Given the description of an element on the screen output the (x, y) to click on. 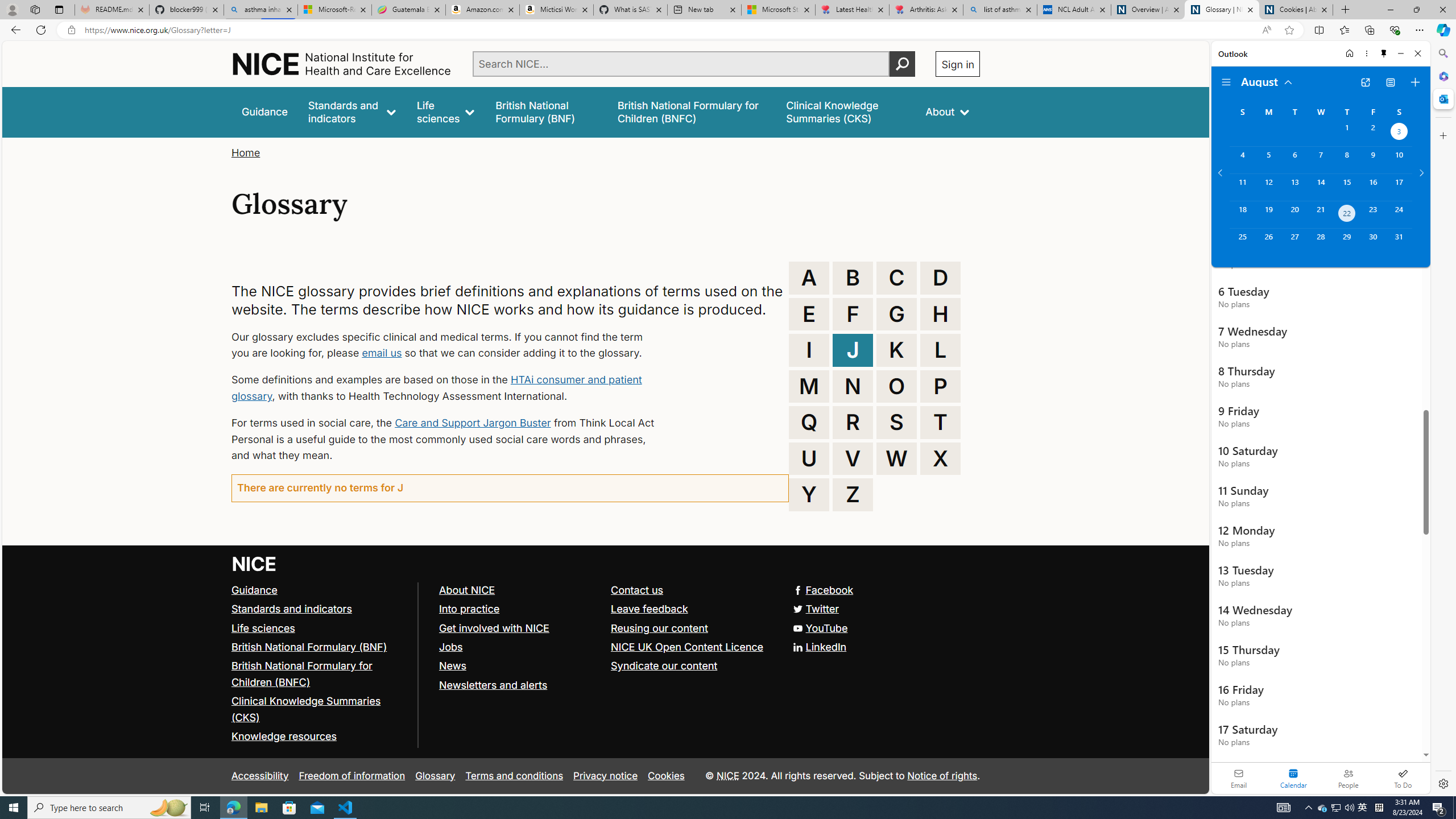
J (852, 350)
Accessibility (259, 775)
T (940, 422)
Saturday, August 10, 2024.  (1399, 159)
Sunday, August 25, 2024.  (1242, 241)
Accessibility (259, 775)
Perform search (902, 63)
J (852, 350)
